Given the description of an element on the screen output the (x, y) to click on. 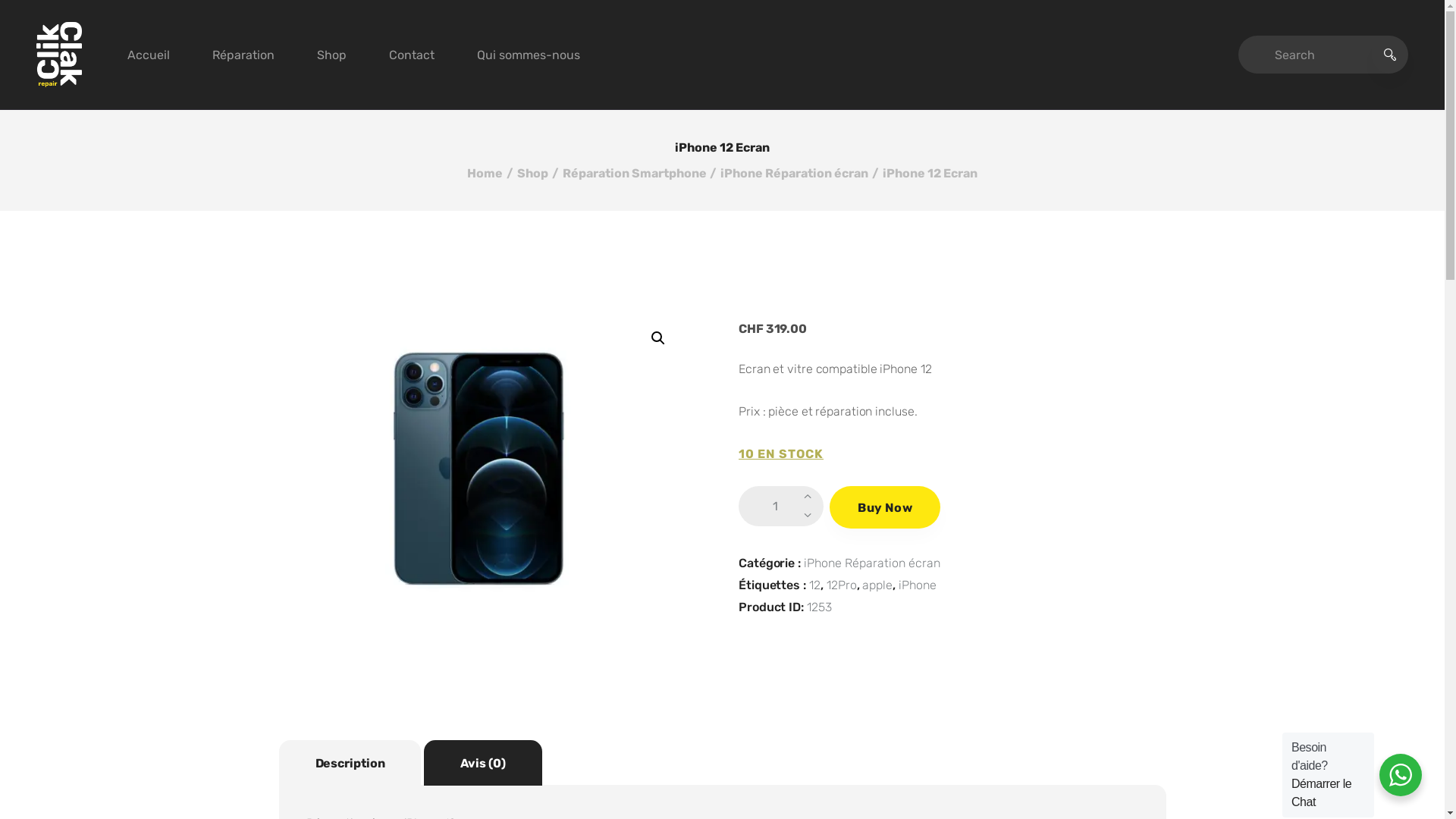
Qui sommes-nous Element type: text (528, 54)
Buy Now Element type: text (884, 507)
apple Element type: text (877, 584)
Shop Element type: text (331, 54)
Contact Element type: text (411, 54)
12Pro Element type: text (841, 584)
Description Element type: text (350, 763)
12 Element type: text (814, 584)
Avis (0) Element type: text (482, 763)
Accueil Element type: text (148, 54)
Shop Element type: text (532, 173)
reparation_iphone 12 Element type: hover (478, 468)
iPhone Element type: text (917, 584)
Home Element type: text (484, 173)
